Given the description of an element on the screen output the (x, y) to click on. 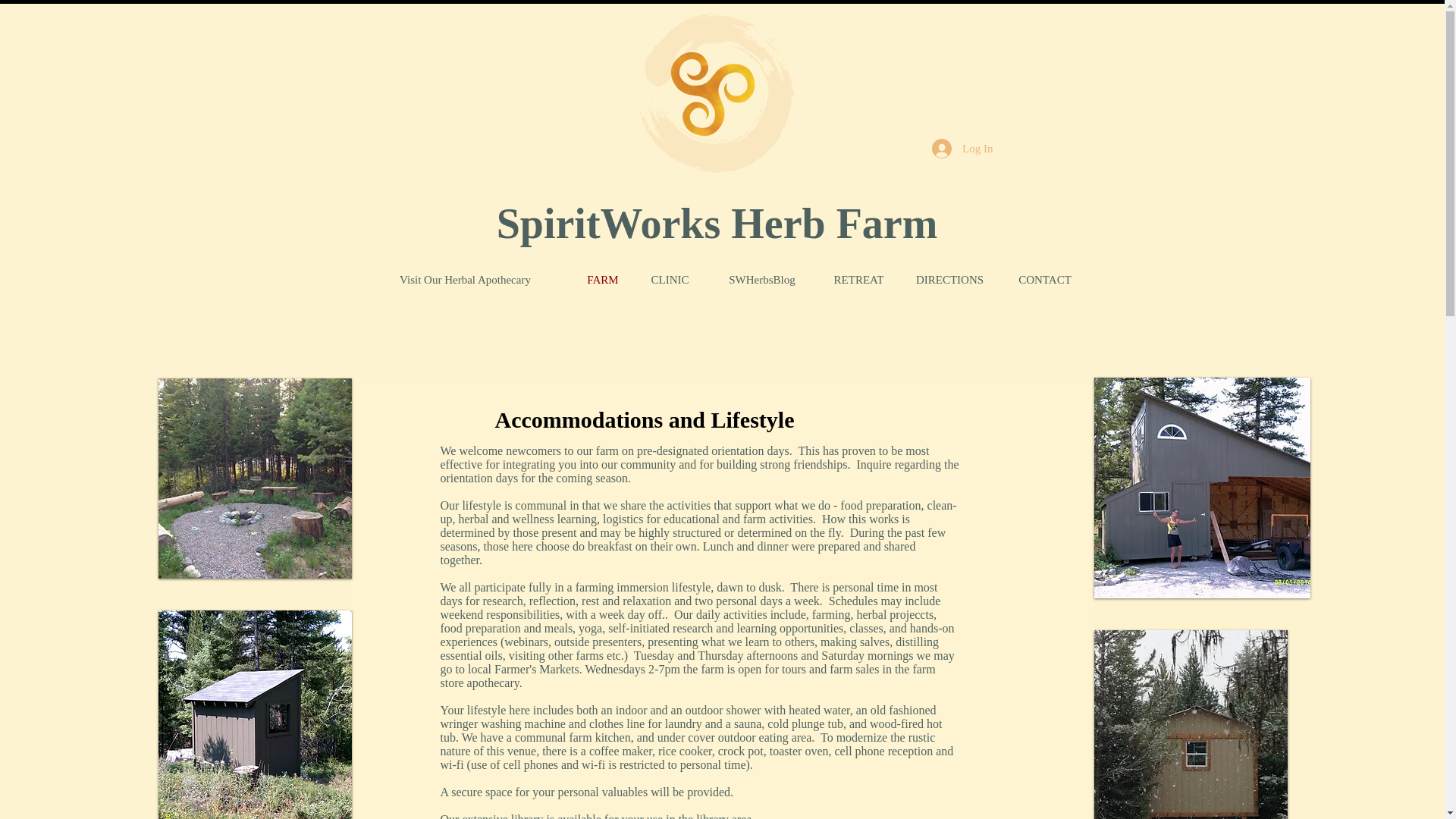
CONTACT (1045, 280)
DIRECTIONS (950, 280)
FARM (603, 280)
Visit Our Herbal Apothecary (465, 280)
CLINIC (668, 280)
RETREAT (858, 280)
SWHerbsBlog (761, 280)
Log In (962, 148)
